Given the description of an element on the screen output the (x, y) to click on. 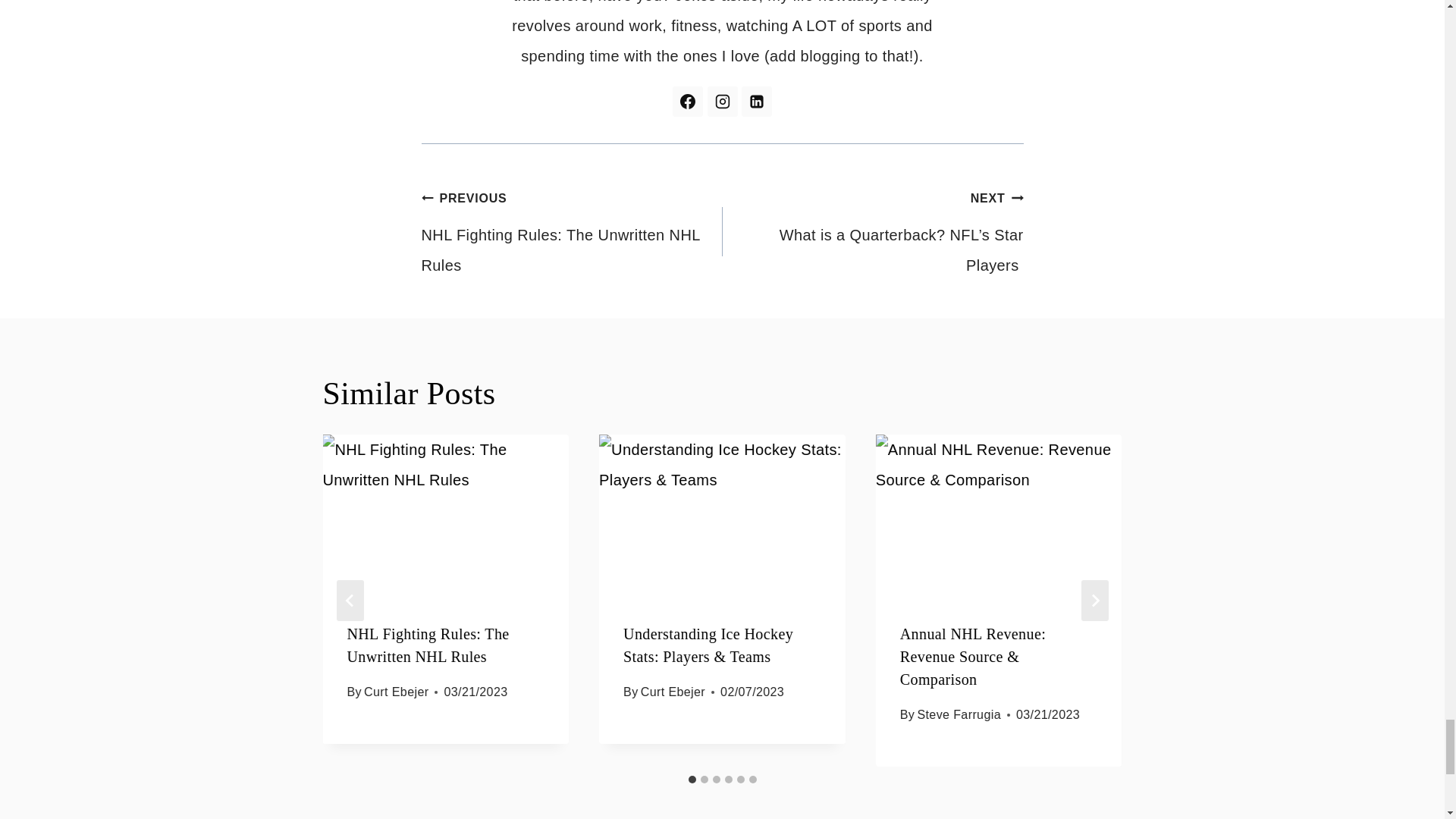
Follow Steve Farrugia on Facebook (687, 101)
Follow Steve Farrugia on Instagram (721, 101)
Follow Steve Farrugia on Linkedin (756, 101)
